Given the description of an element on the screen output the (x, y) to click on. 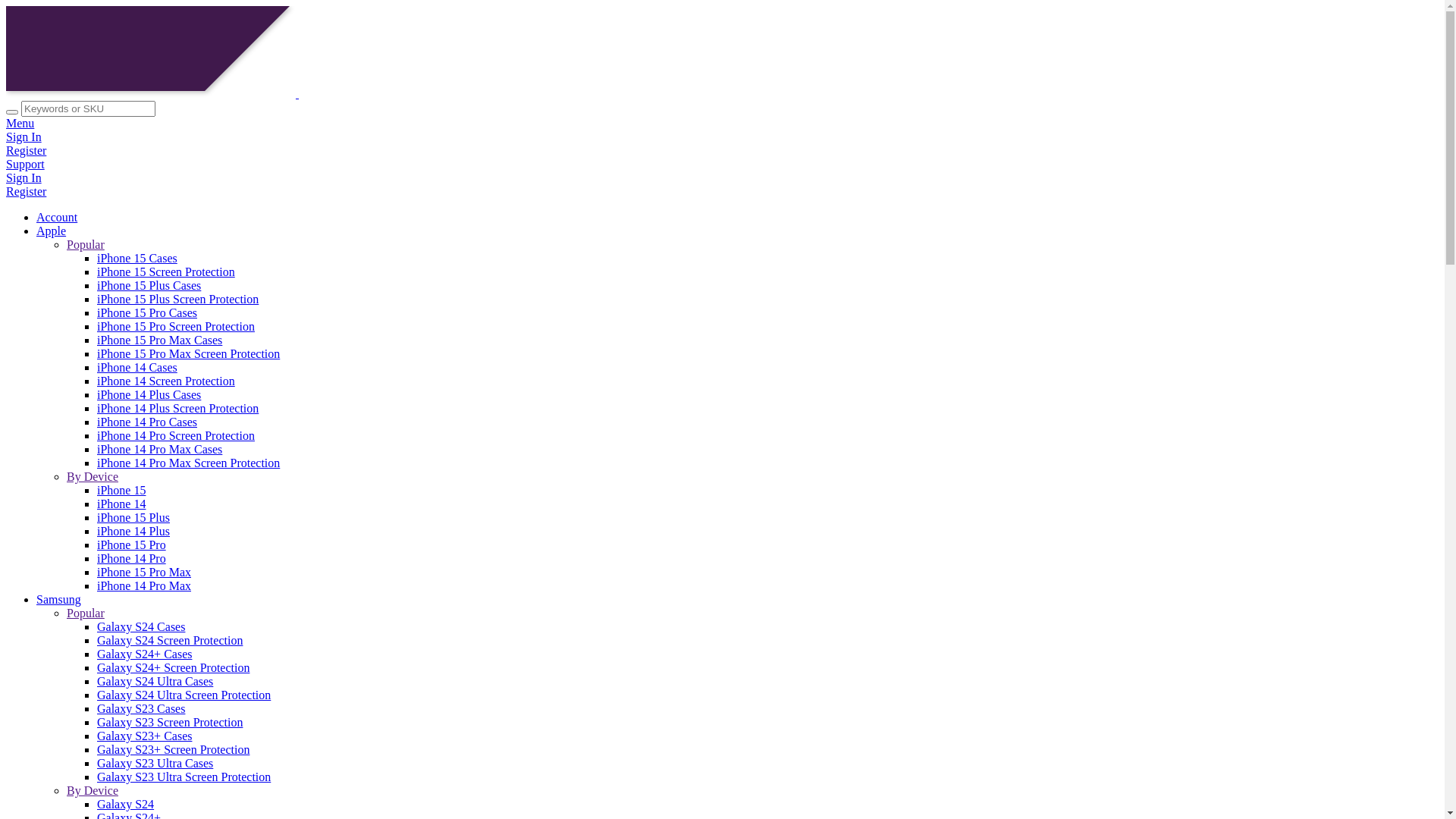
Register Element type: text (722, 191)
iPhone 15 Pro Max Element type: text (144, 571)
iPhone 14 Pro Cases Element type: text (147, 421)
iPhone 15 Pro Screen Protection Element type: text (175, 326)
Sign In Element type: text (722, 178)
Menu Element type: text (722, 123)
iPhone 14 Screen Protection Element type: text (166, 380)
Galaxy S24 Ultra Cases Element type: text (155, 680)
Sign In Element type: text (722, 137)
Galaxy S23 Screen Protection Element type: text (169, 721)
iPhone 14 Cases Element type: text (137, 366)
iPhone 15 Plus Element type: text (133, 517)
Galaxy S24 Element type: text (125, 803)
iPhone 15 Plus Cases Element type: text (148, 285)
Galaxy S23+ Screen Protection Element type: text (173, 749)
iPhone 14 Pro Max Screen Protection Element type: text (188, 462)
iPhone 14 Plus Cases Element type: text (148, 394)
iPhone 15 Pro Max Cases Element type: text (159, 339)
Popular Element type: text (85, 612)
iPhone 15 Pro Element type: text (131, 544)
iPhone 15 Pro Cases Element type: text (147, 312)
iPhone 15 Pro Max Screen Protection Element type: text (188, 353)
Apple Element type: text (50, 230)
Register Element type: text (722, 150)
Galaxy S24+ Screen Protection Element type: text (173, 667)
By Device Element type: text (92, 476)
Account Element type: text (56, 216)
iPhone 15 Cases Element type: text (137, 257)
Galaxy S24 Ultra Screen Protection Element type: text (183, 694)
iPhone 15 Screen Protection Element type: text (166, 271)
Support Element type: text (722, 164)
Popular Element type: text (85, 244)
iPhone 14 Pro Screen Protection Element type: text (175, 435)
Force Technology Element type: text (235, 93)
Galaxy S24 Screen Protection Element type: text (169, 639)
Galaxy S24 Cases Element type: text (141, 626)
iPhone 14 Plus Screen Protection Element type: text (177, 407)
Galaxy S23+ Cases Element type: text (144, 735)
iPhone 14 Pro Max Element type: text (144, 585)
Galaxy S23 Ultra Cases Element type: text (155, 762)
iPhone 14 Plus Element type: text (133, 530)
Galaxy S24+ Cases Element type: text (144, 653)
By Device Element type: text (92, 790)
iPhone 15 Plus Screen Protection Element type: text (177, 298)
iPhone 15 Element type: text (121, 489)
iPhone 14 Element type: text (121, 503)
Galaxy S23 Cases Element type: text (141, 708)
Galaxy S23 Ultra Screen Protection Element type: text (183, 776)
iPhone 14 Pro Element type: text (131, 558)
iPhone 14 Pro Max Cases Element type: text (159, 448)
Samsung Element type: text (58, 599)
